Given the description of an element on the screen output the (x, y) to click on. 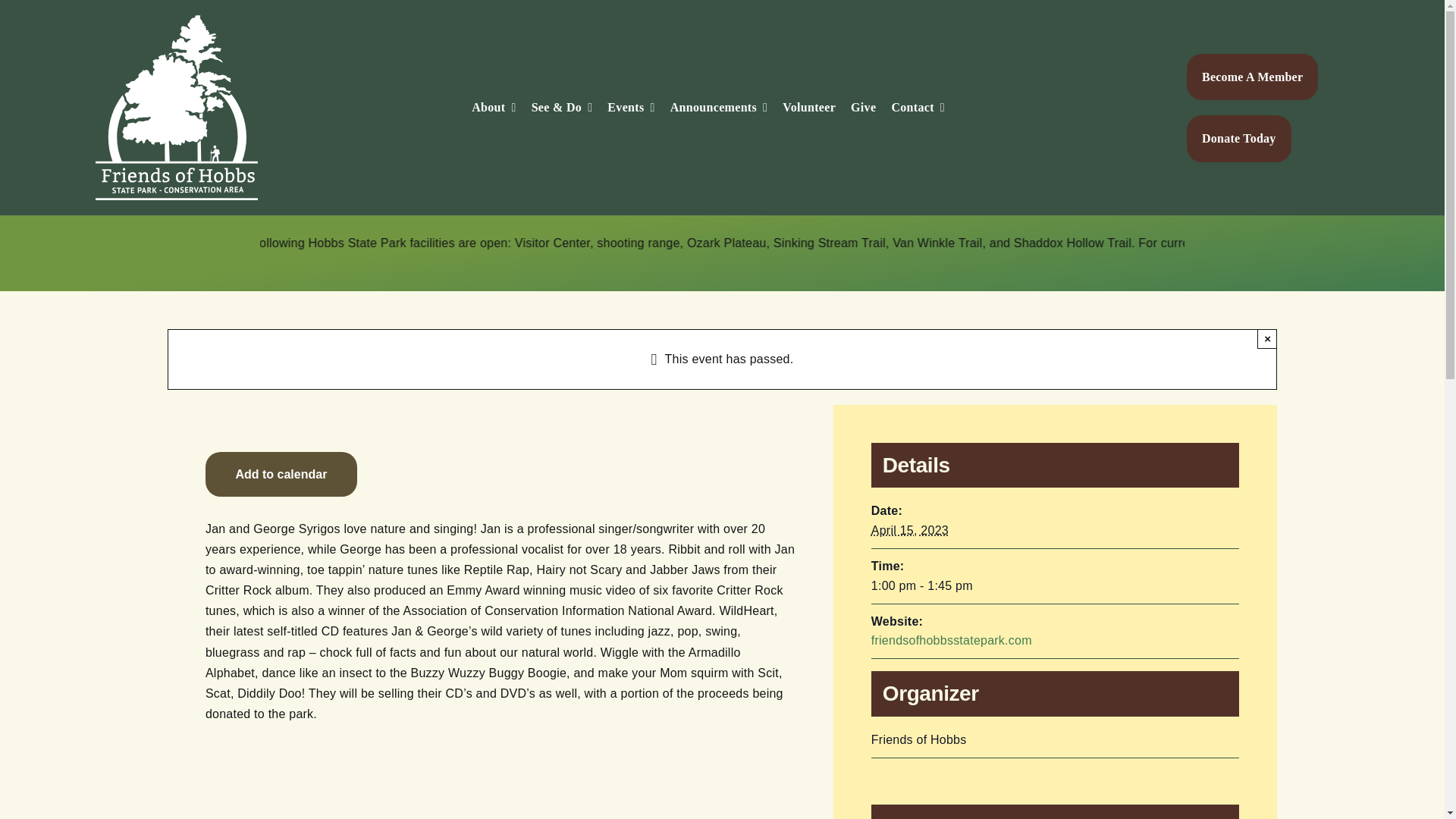
Events (630, 107)
About (493, 107)
Volunteer (809, 107)
2023-04-15 (909, 530)
Contact (917, 107)
Donate Today (1238, 138)
2023-04-15 (1054, 586)
Announcements (718, 107)
Become A Member (1251, 77)
